Given the description of an element on the screen output the (x, y) to click on. 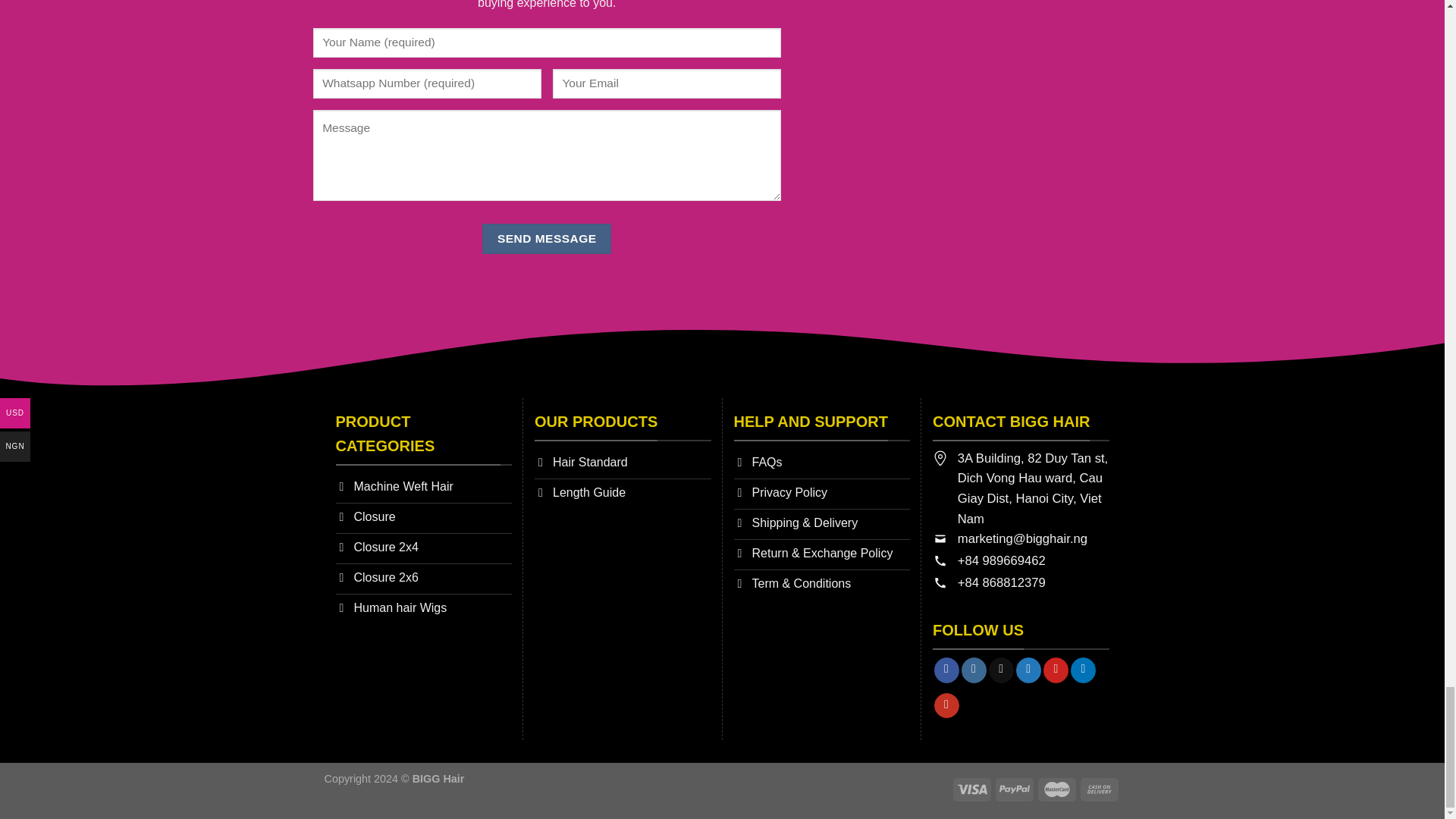
Send message (546, 238)
Follow on Twitter (1028, 670)
Follow on LinkedIn (1083, 670)
Follow on Pinterest (1055, 670)
Follow on TikTok (1000, 670)
Follow on Facebook (946, 670)
Follow on Instagram (973, 670)
